Given the description of an element on the screen output the (x, y) to click on. 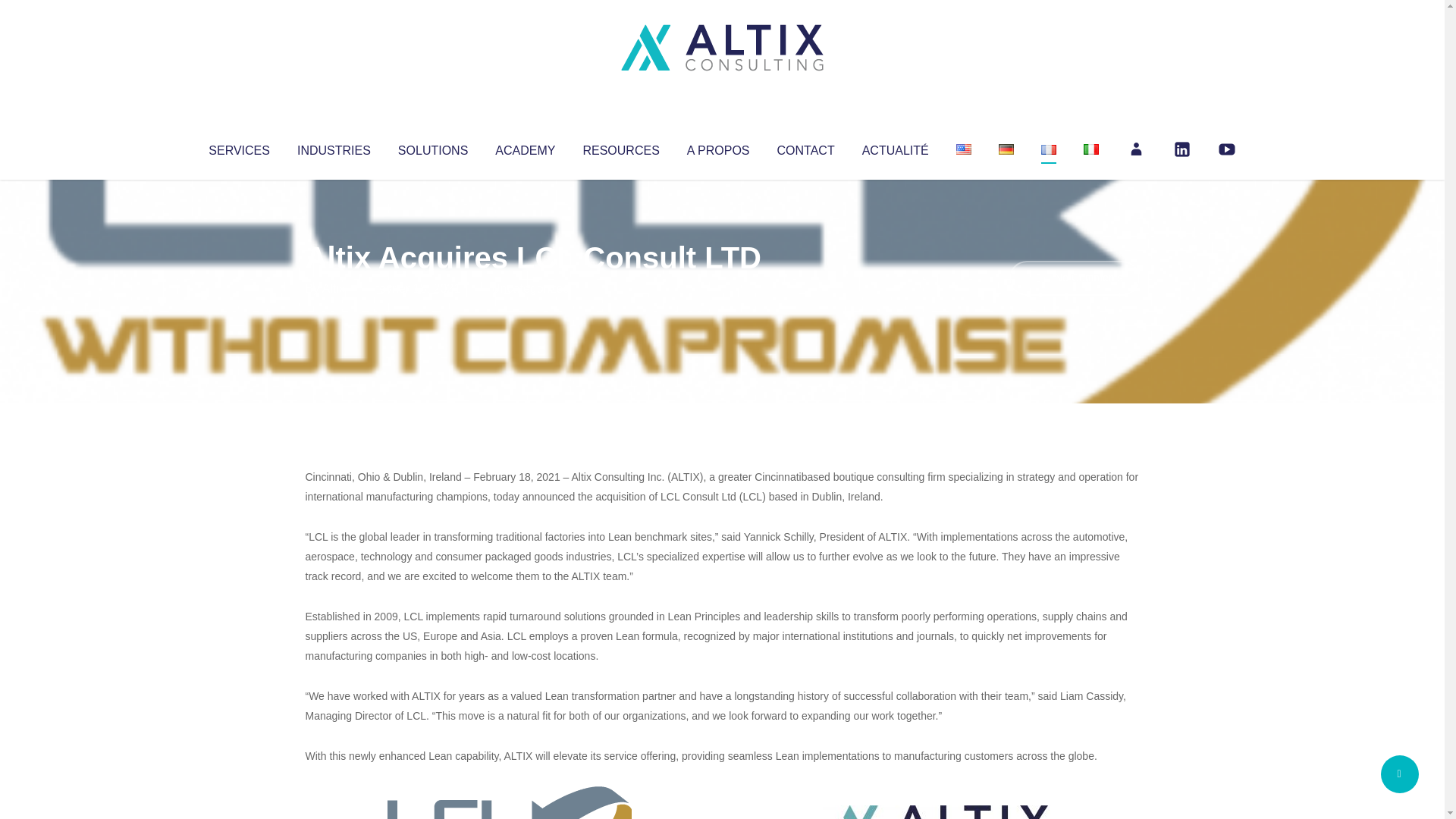
Altix (333, 287)
ACADEMY (524, 146)
SOLUTIONS (432, 146)
RESOURCES (620, 146)
No Comments (1073, 278)
A PROPOS (718, 146)
Uncategorized (530, 287)
Articles par Altix (333, 287)
INDUSTRIES (334, 146)
SERVICES (238, 146)
